Given the description of an element on the screen output the (x, y) to click on. 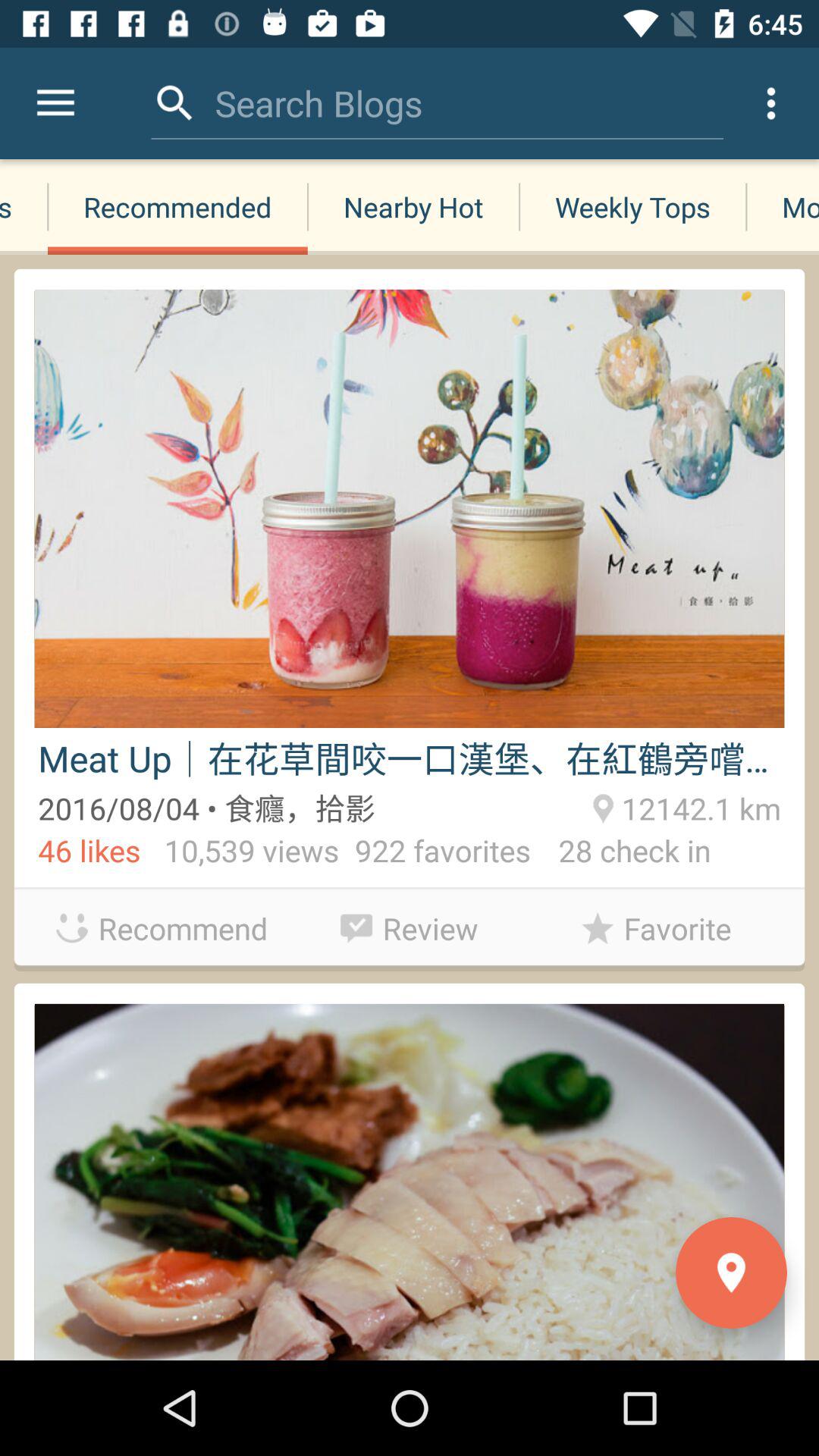
turn on the item to the left of the weekly tops item (413, 206)
